Given the description of an element on the screen output the (x, y) to click on. 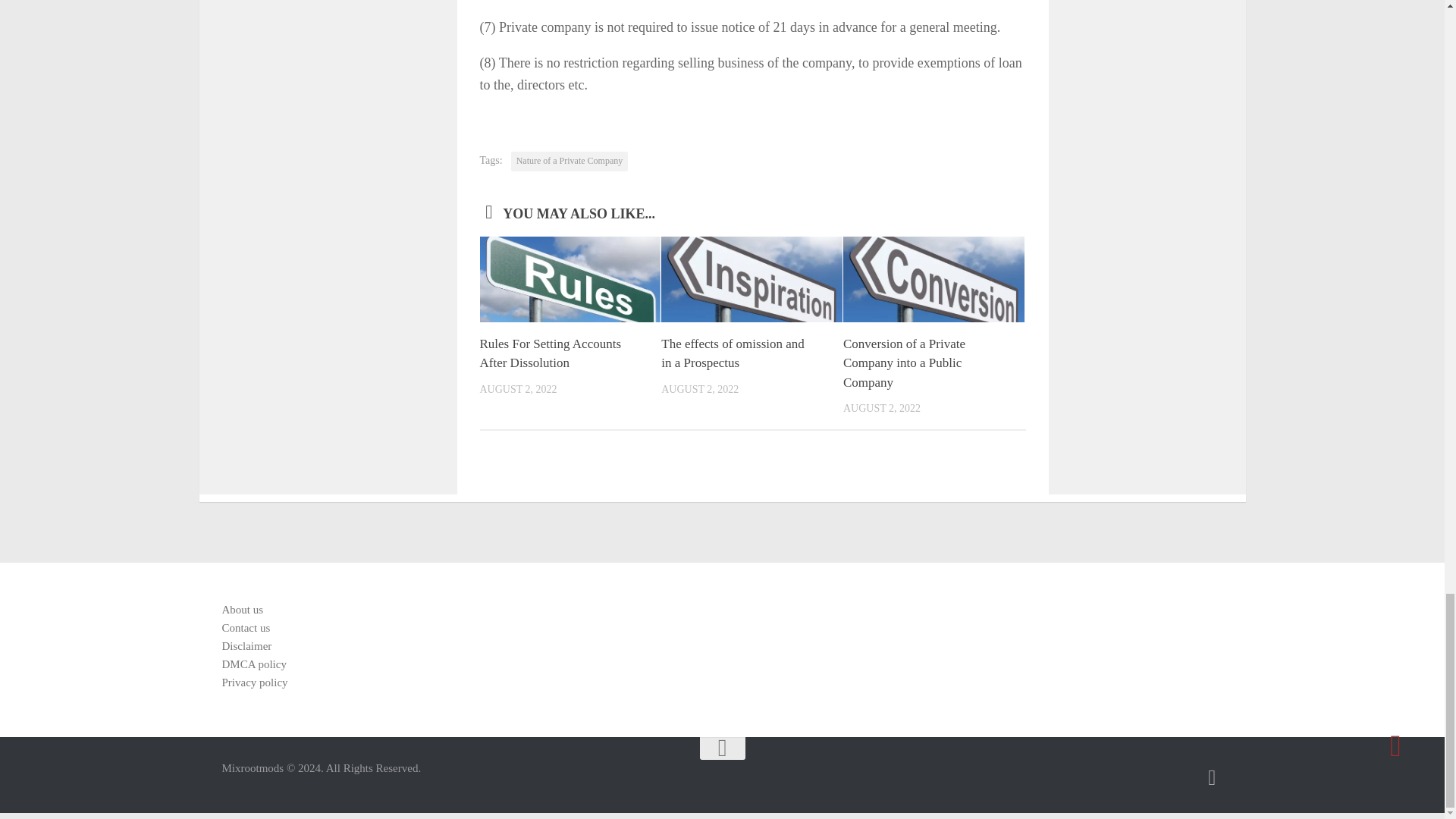
Rules For Setting Accounts After Dissolution (550, 353)
Nature of a Private Company (569, 161)
Disclaimer (245, 645)
Privacy policy (253, 682)
About us (242, 609)
DMCA policy (733, 353)
Conversion of a Private Company into a Public Company (253, 664)
Contact us (904, 362)
